Given the description of an element on the screen output the (x, y) to click on. 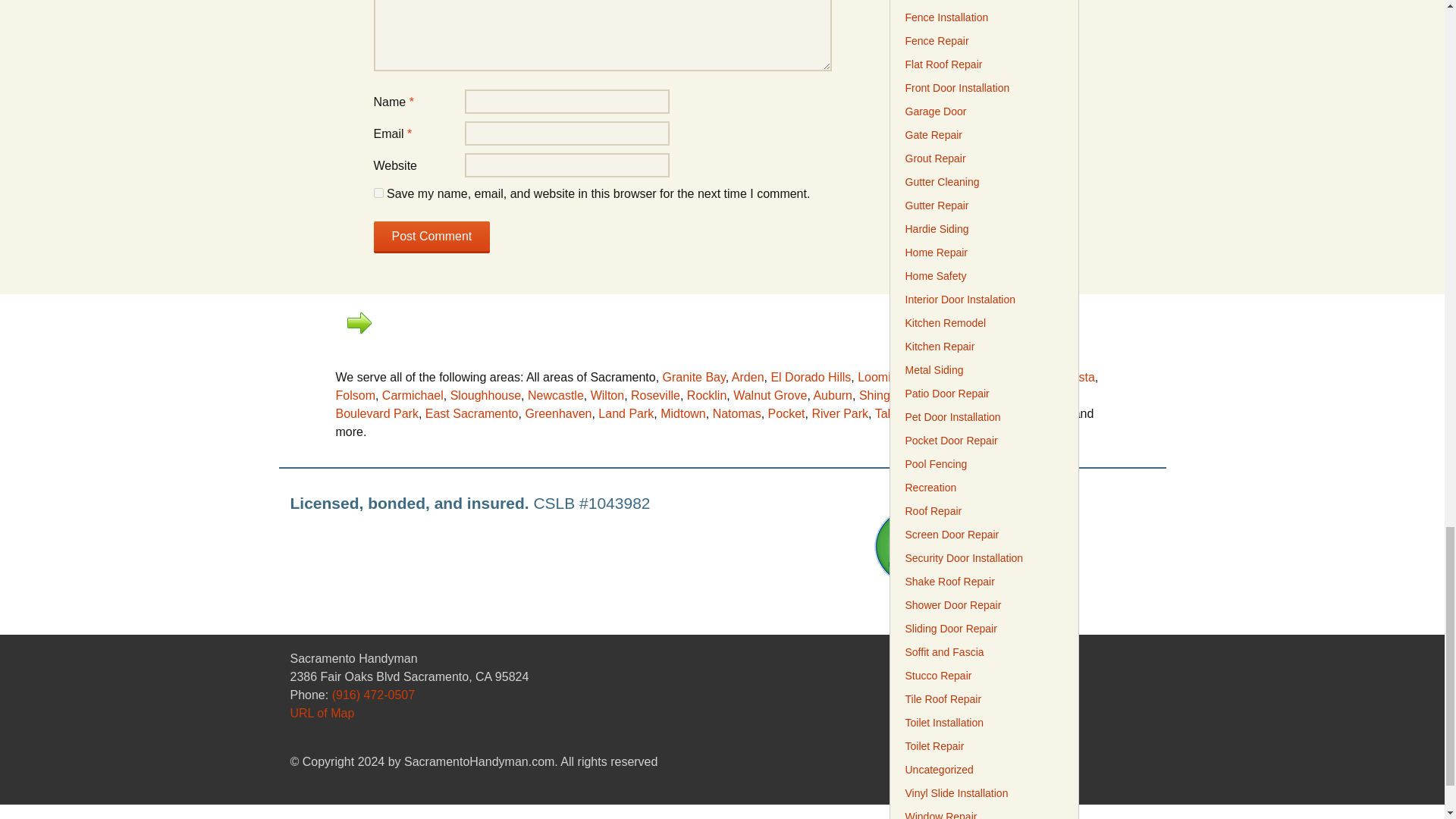
Twitter (1144, 696)
Facebook (1118, 696)
RSS (1093, 696)
yes (377, 193)
Post Comment (430, 237)
